Given the description of an element on the screen output the (x, y) to click on. 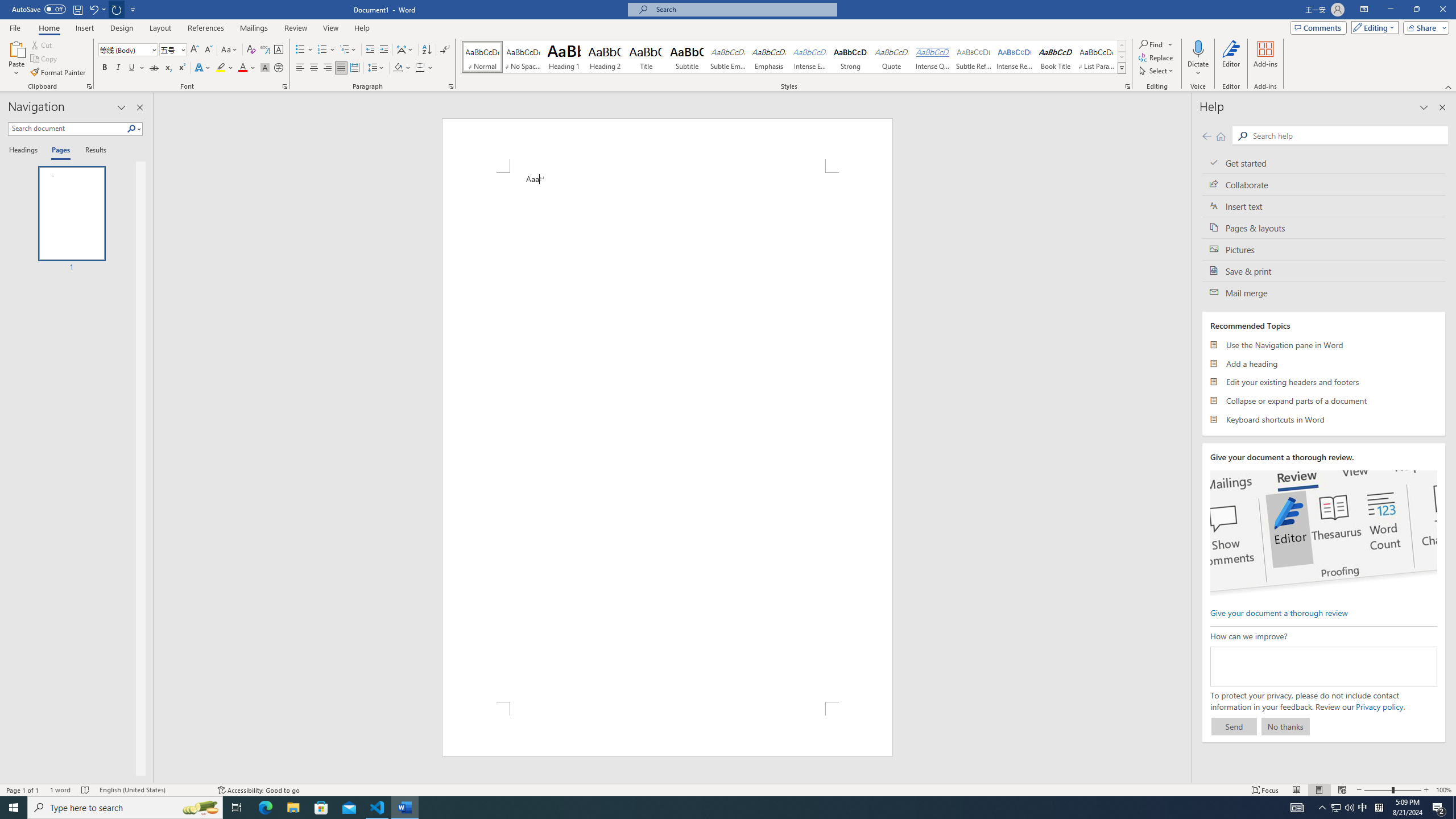
Subtle Reference (973, 56)
Page 1 content (667, 436)
Office Clipboard... (88, 85)
Get started (1323, 162)
Row Down (1121, 56)
Review (295, 28)
Bullets (300, 49)
Replace... (1156, 56)
Help (361, 28)
Font Size (172, 49)
Pages (59, 150)
Web Layout (1342, 790)
Microsoft search (742, 9)
Intense Quote (932, 56)
Strong (849, 56)
